Given the description of an element on the screen output the (x, y) to click on. 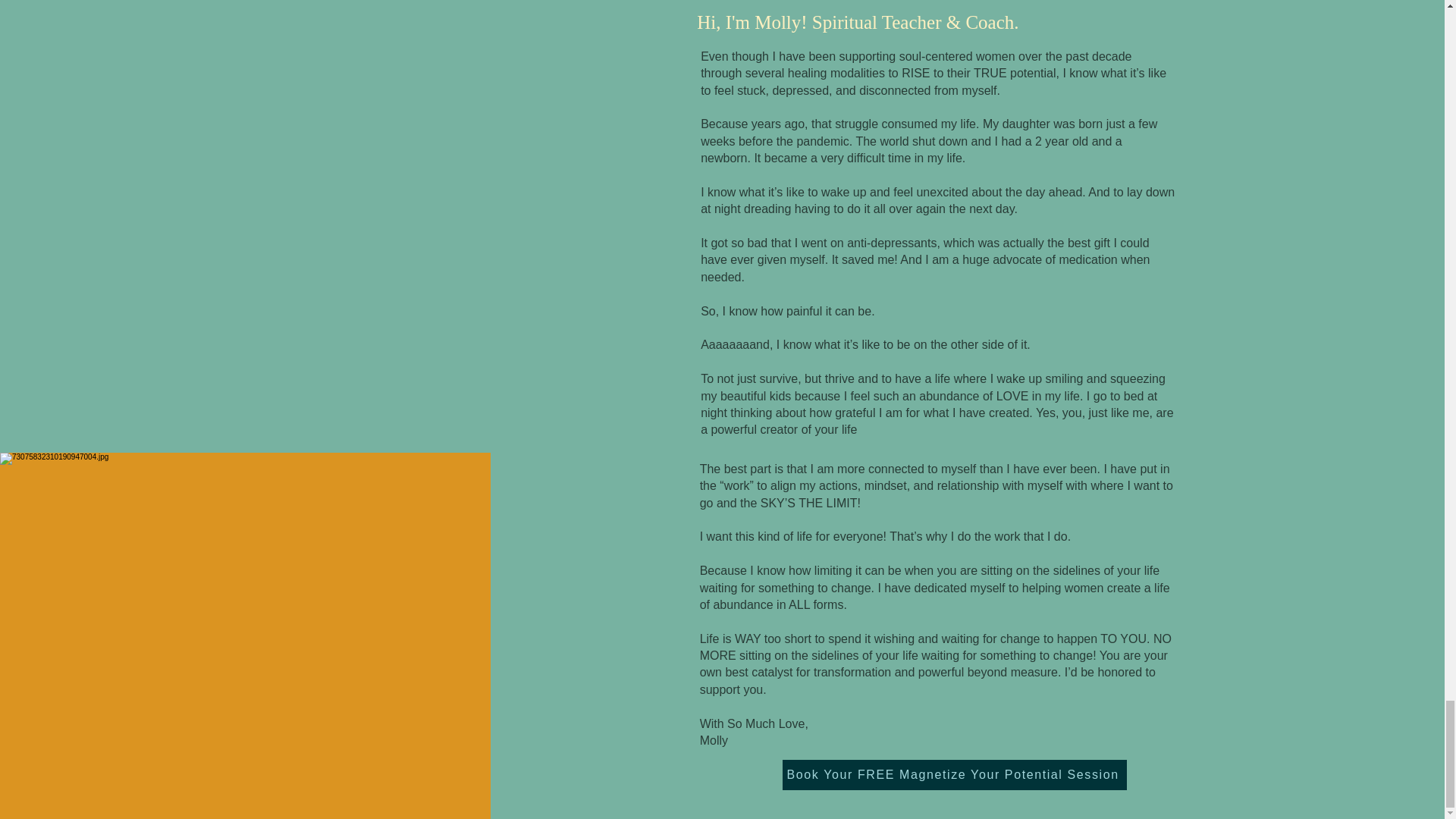
Book Your FREE Session (443, 606)
Get Connected (71, 544)
Book Your FREE Magnetize Your Potential Session (954, 775)
